Given the description of an element on the screen output the (x, y) to click on. 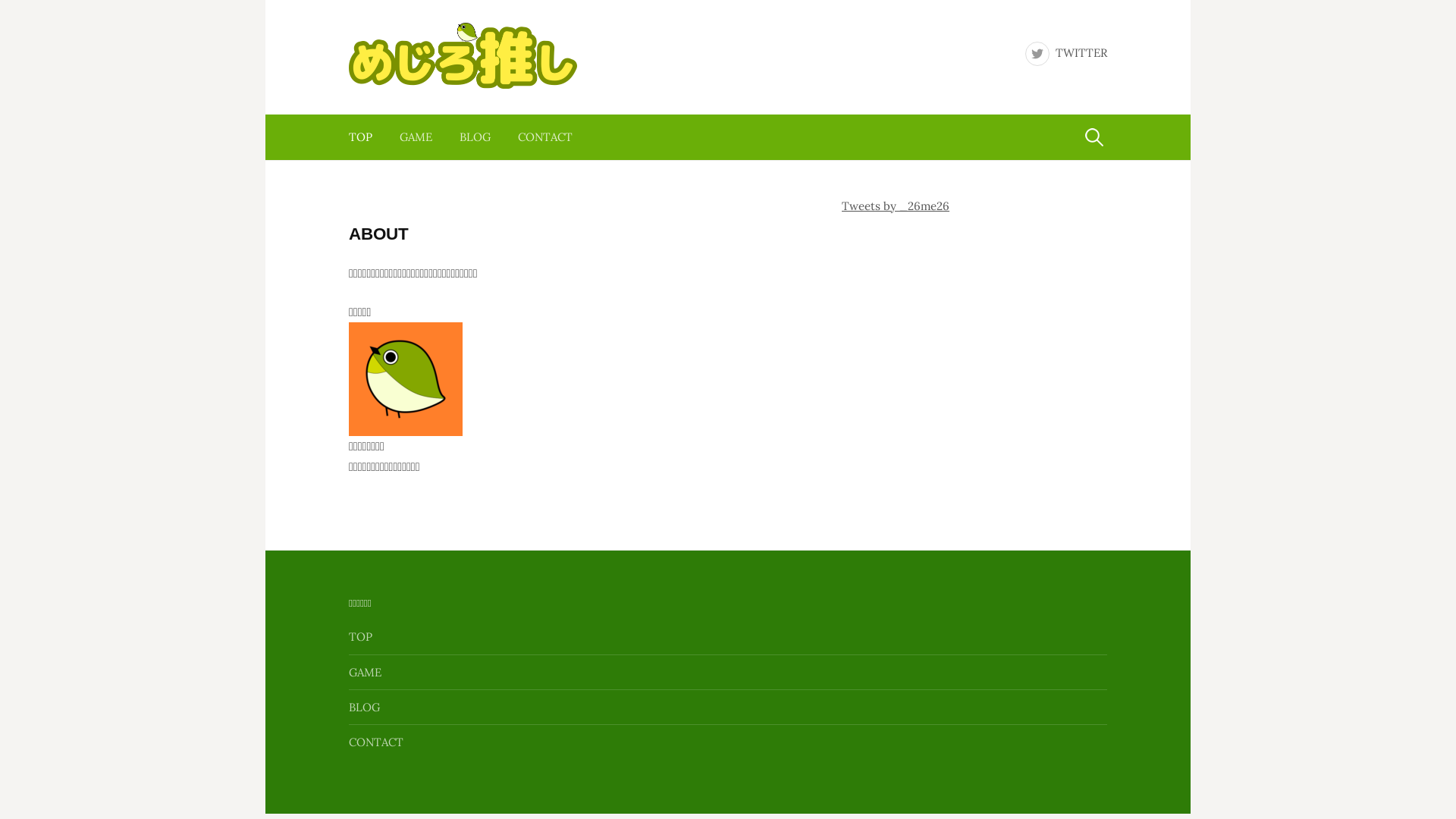
TWITTER Element type: text (1066, 52)
Tweets by _26me26 Element type: text (895, 205)
CONTACT Element type: text (545, 137)
GAME Element type: text (415, 137)
BLOG Element type: text (474, 137)
TOP Element type: text (366, 137)
TOP Element type: text (360, 636)
CONTACT Element type: text (375, 741)
BLOG Element type: text (363, 706)
GAME Element type: text (364, 671)
